Given the description of an element on the screen output the (x, y) to click on. 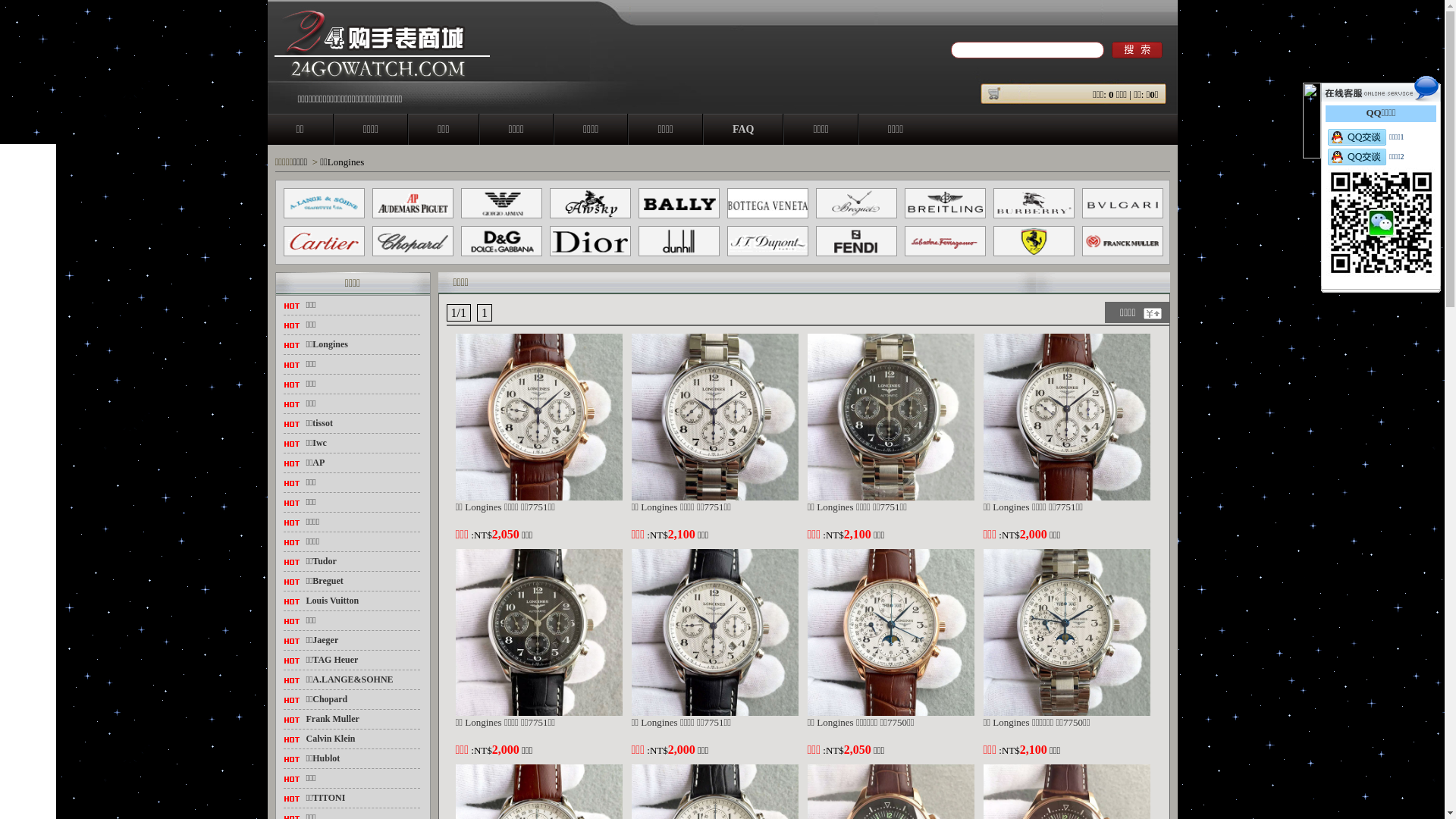
Louis Vuitton Element type: text (332, 600)
search Element type: hover (1136, 49)
Frank Muller Element type: text (332, 718)
1/1 Element type: text (457, 312)
FAQ Element type: text (743, 128)
1 Element type: text (484, 312)
Calvin Klein Element type: text (330, 738)
